Given the description of an element on the screen output the (x, y) to click on. 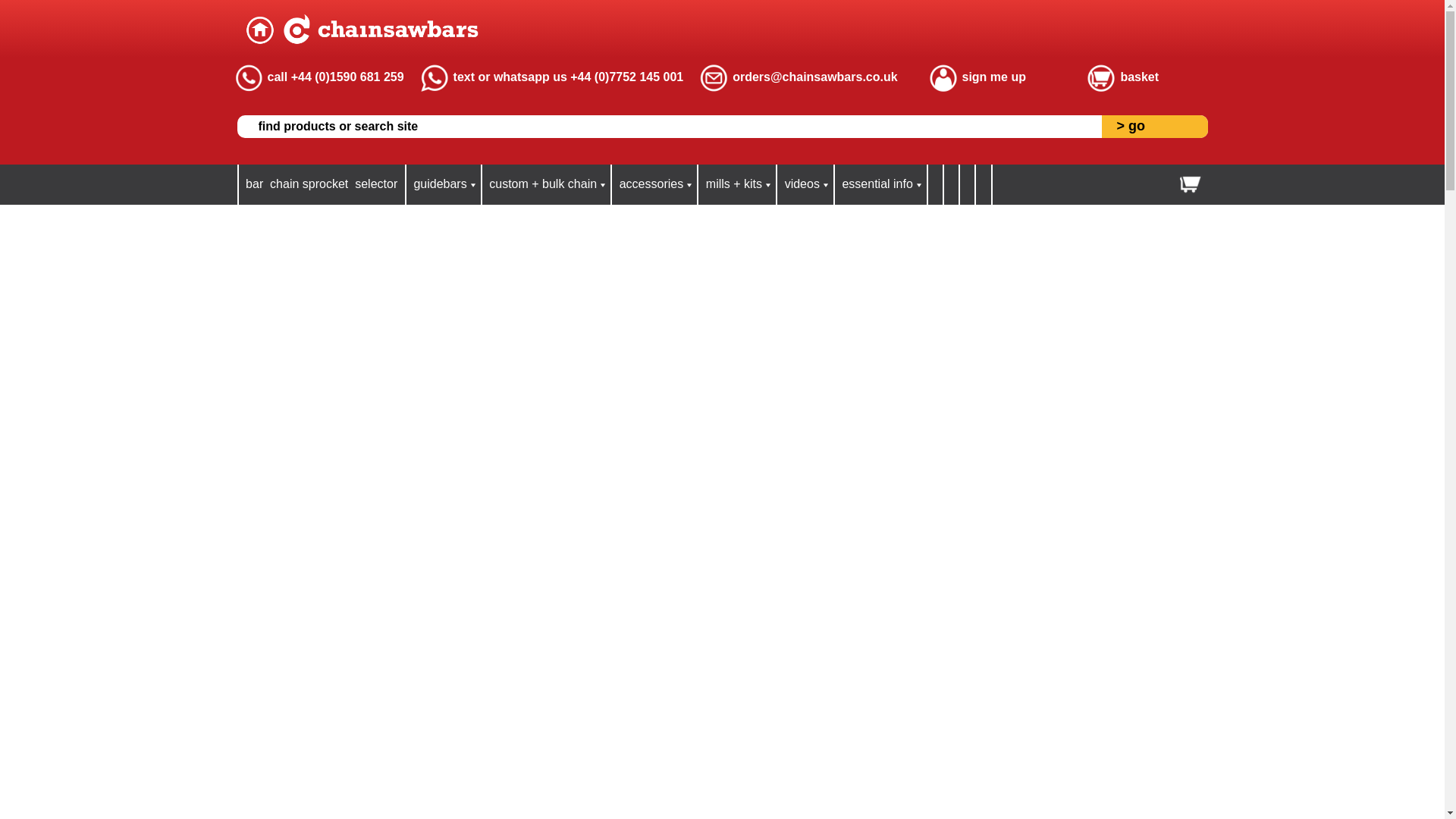
sign me up (992, 76)
basket (1138, 76)
